Given the description of an element on the screen output the (x, y) to click on. 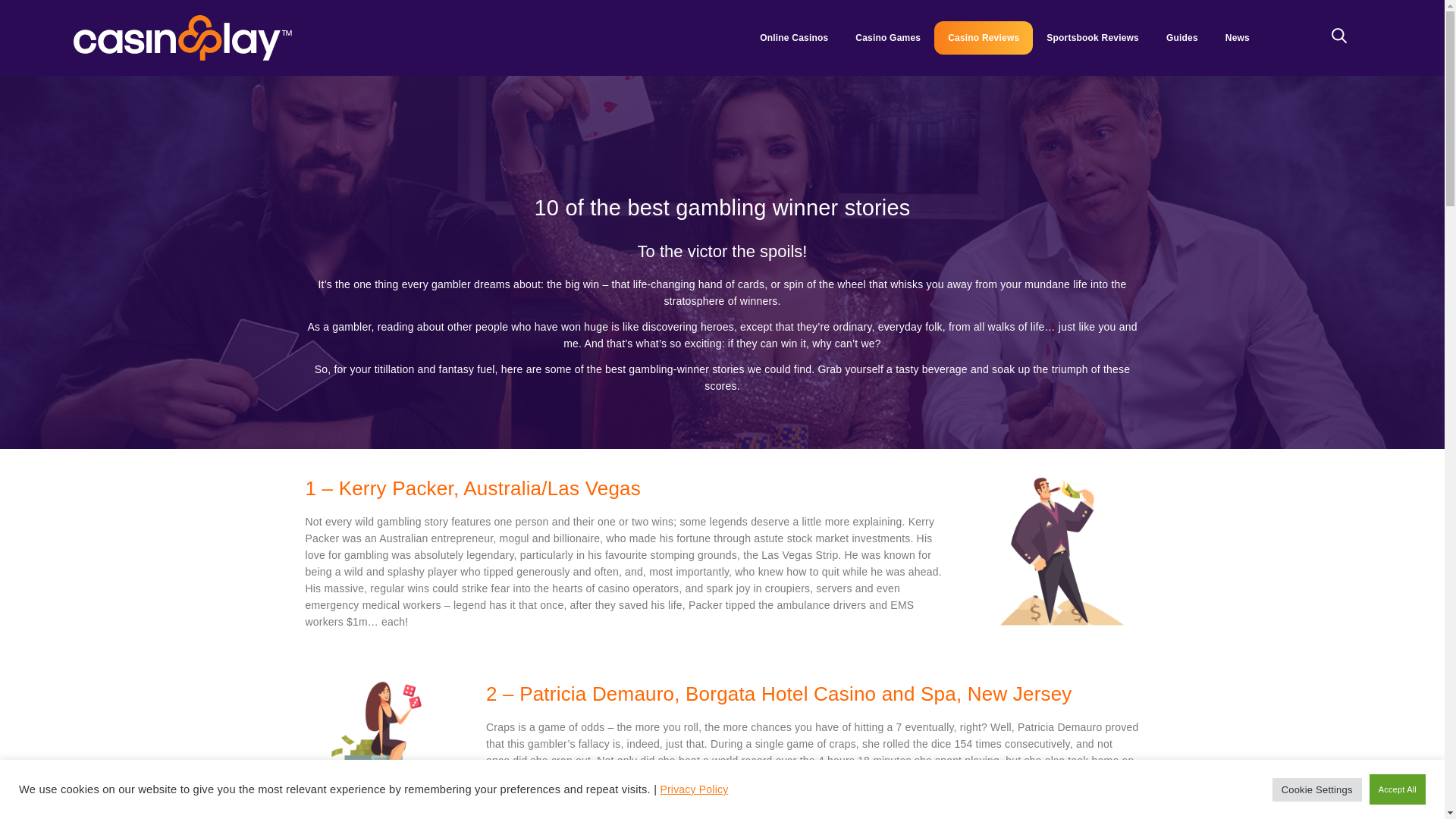
Casino Reviews (983, 37)
Guides (1182, 37)
Online Casinos (793, 37)
Casino Games (887, 37)
Sportsbook Reviews (1092, 37)
News (1237, 37)
CasinoPlay.co.za (183, 37)
